Given the description of an element on the screen output the (x, y) to click on. 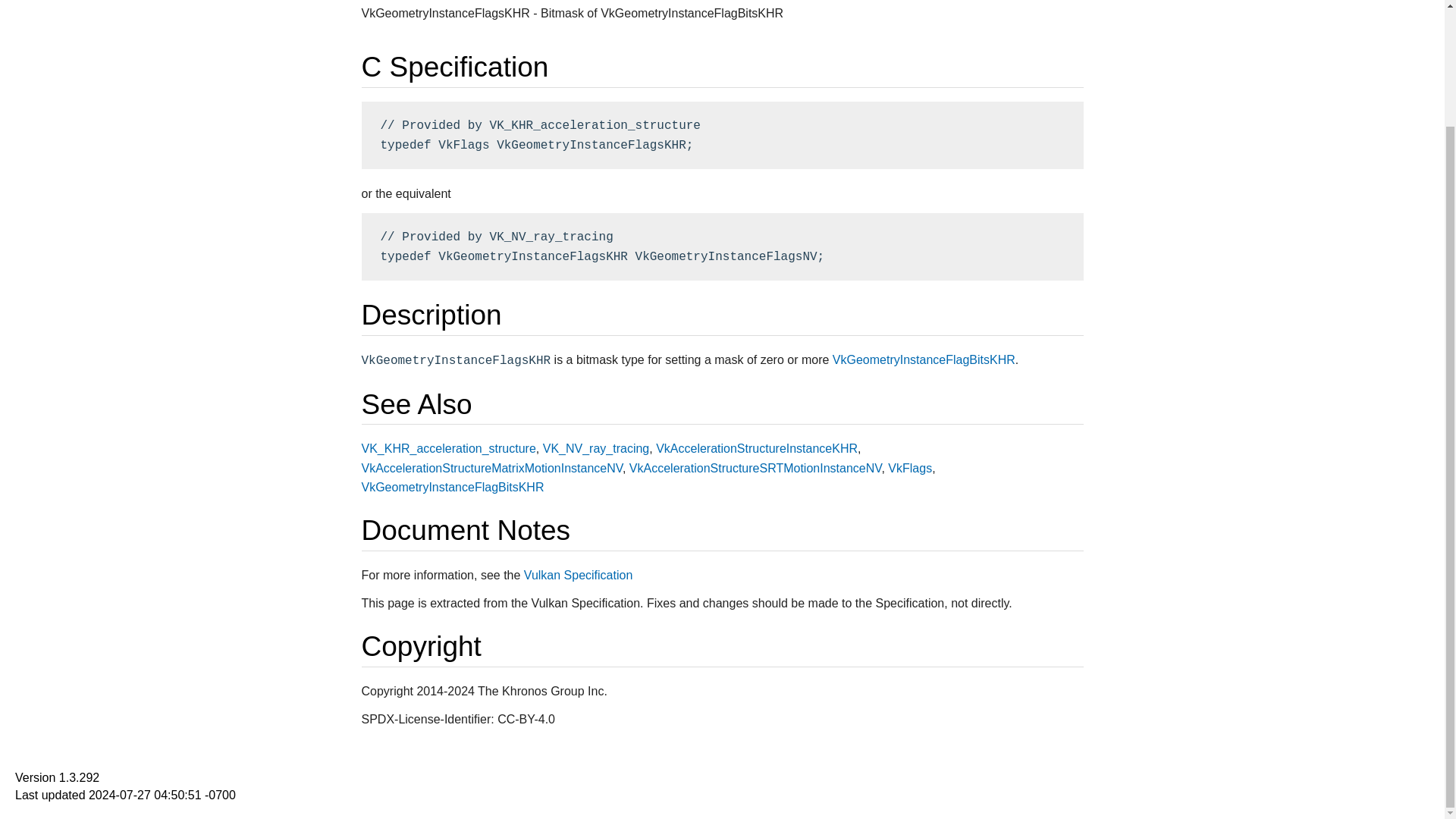
VkAccelerationStructureSRTMotionInstanceNV (755, 468)
VkGeometryInstanceFlagBitsKHR (923, 359)
VkAccelerationStructureInstanceKHR (756, 448)
VkAccelerationStructureMatrixMotionInstanceNV (491, 468)
VkFlags (909, 468)
VkGeometryInstanceFlagBitsKHR (452, 486)
Vulkan Specification (578, 574)
